Given the description of an element on the screen output the (x, y) to click on. 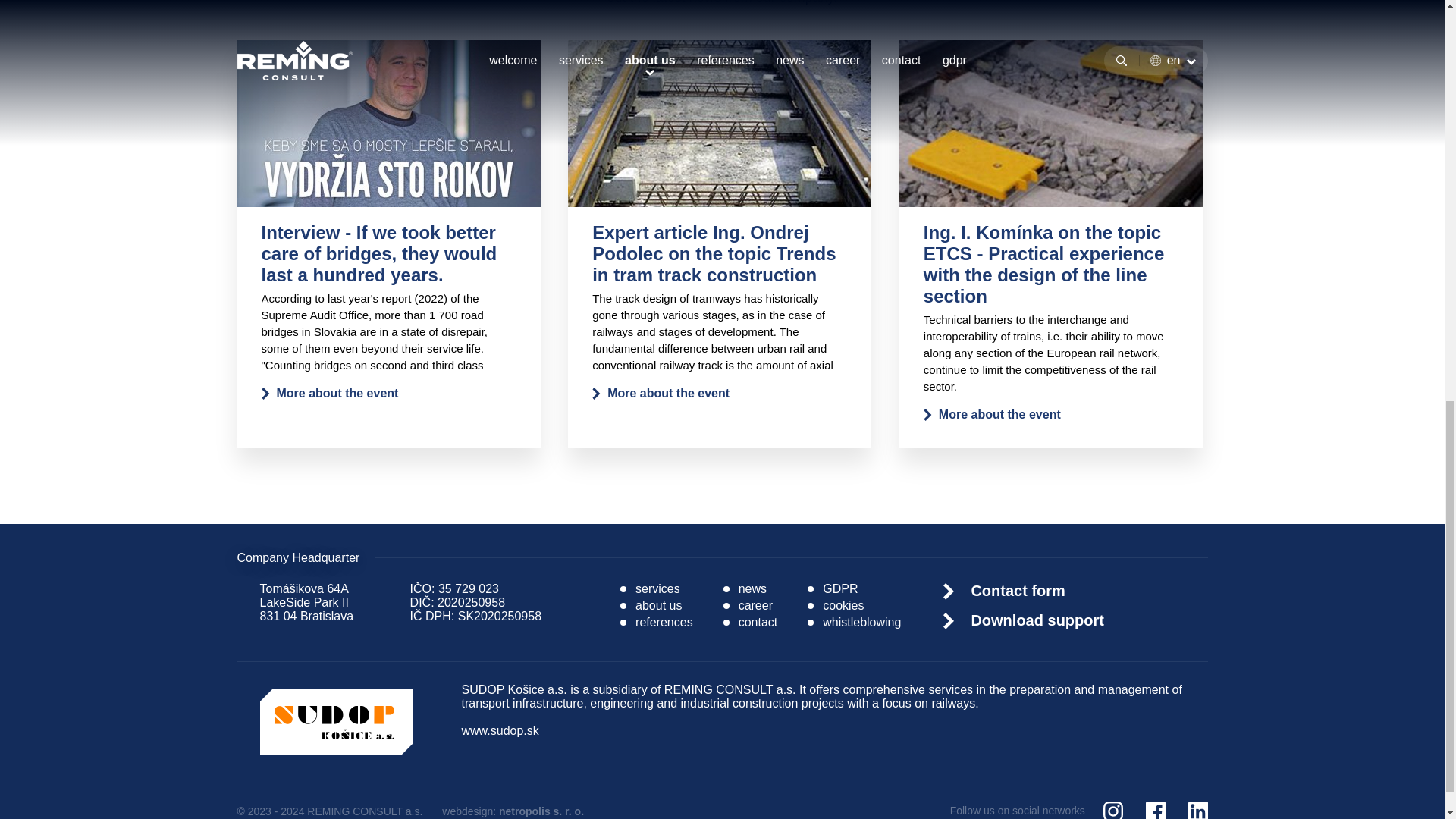
More about the event (328, 393)
More about the event (660, 393)
references (656, 622)
career (748, 605)
services (649, 589)
GDPR (832, 589)
contact (750, 622)
about us (650, 605)
news (745, 589)
